Given the description of an element on the screen output the (x, y) to click on. 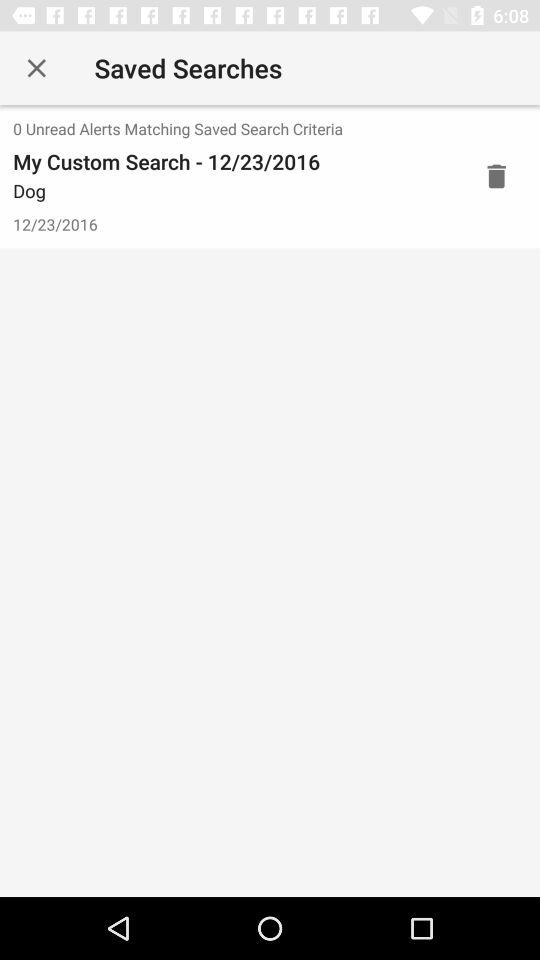
open the icon to the left of the saved searches (36, 68)
